Given the description of an element on the screen output the (x, y) to click on. 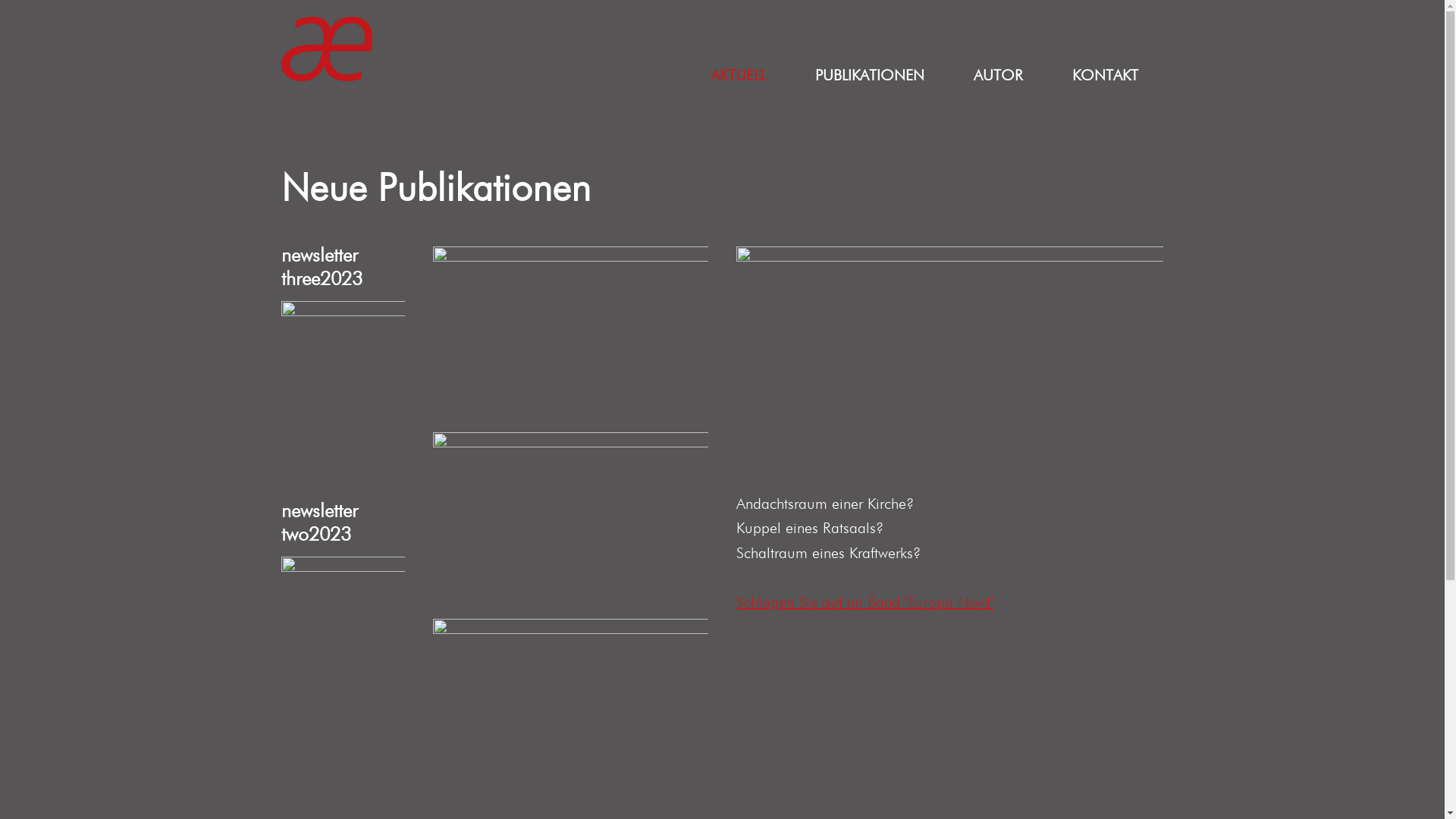
PUBLIKATIONEN Element type: text (870, 75)
argosedition Element type: hover (596, 74)
KONTAKT Element type: text (1105, 75)
Argos Edition Element type: hover (326, 48)
AUTOR Element type: text (998, 75)
